Given the description of an element on the screen output the (x, y) to click on. 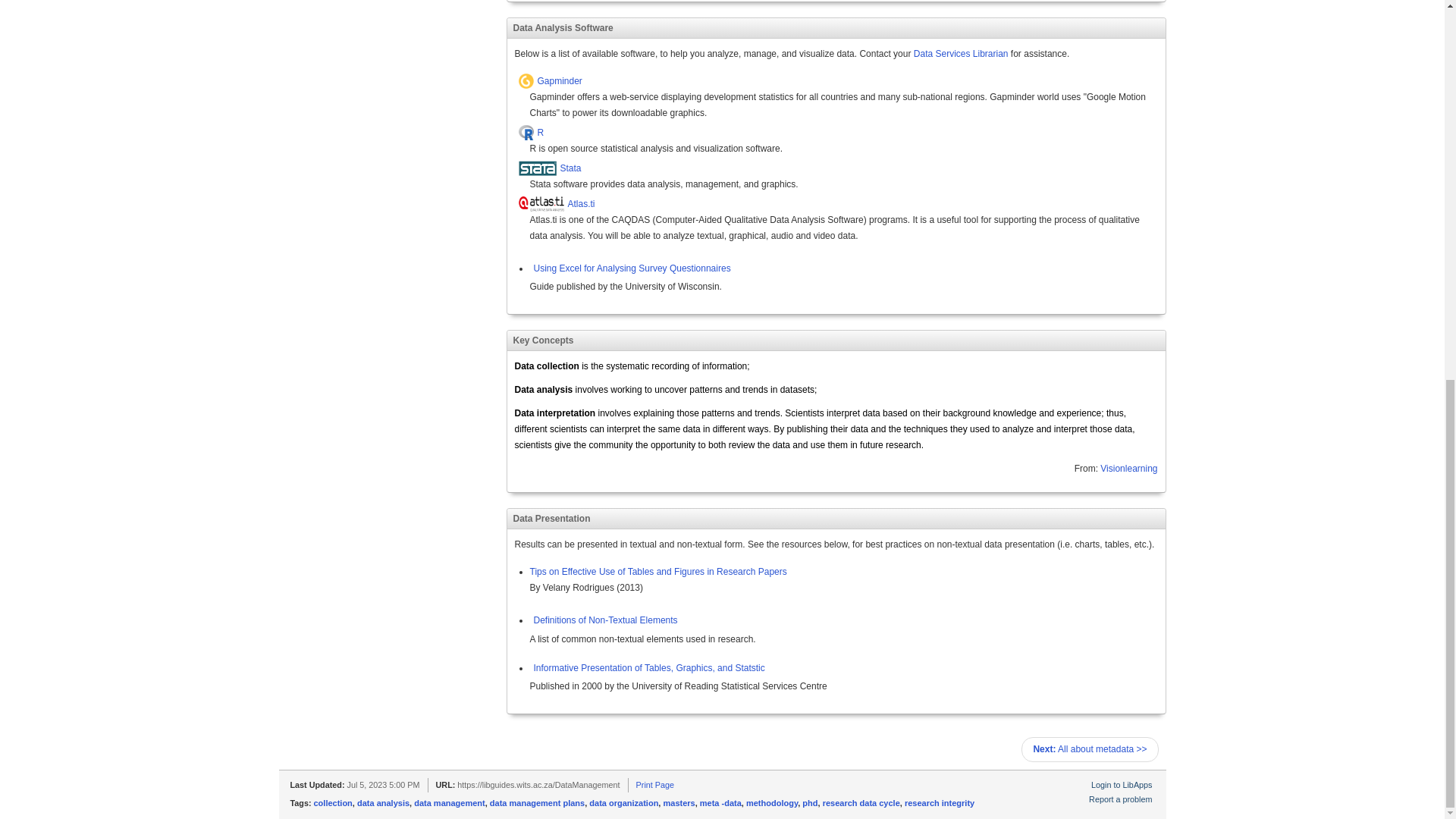
Data (523, 389)
Stata (873, 169)
Data Services Librarian (961, 53)
data (781, 444)
Visionlearning (1128, 468)
R (850, 133)
data (870, 412)
Data (523, 412)
data (858, 429)
Gapminder (850, 82)
Using Excel for Analysing Survey Questionnaires (629, 267)
data (1123, 429)
Atlas.ti (881, 205)
data (691, 429)
